Given the description of an element on the screen output the (x, y) to click on. 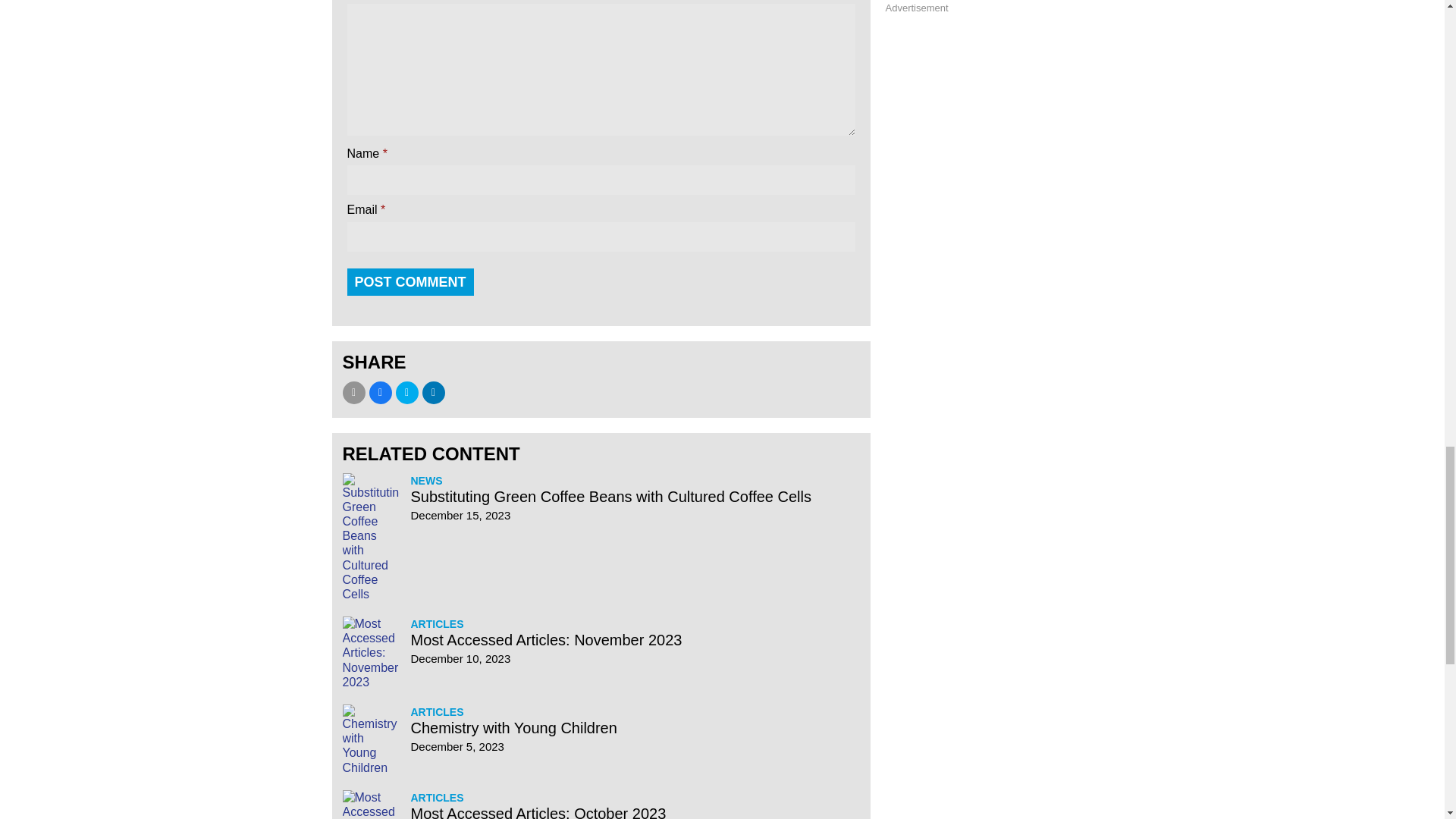
Share on LinkedIn (433, 392)
Post Comment (410, 281)
Share on Facebook (379, 392)
Share on Twitter (407, 392)
Share on Email (353, 392)
